Given the description of an element on the screen output the (x, y) to click on. 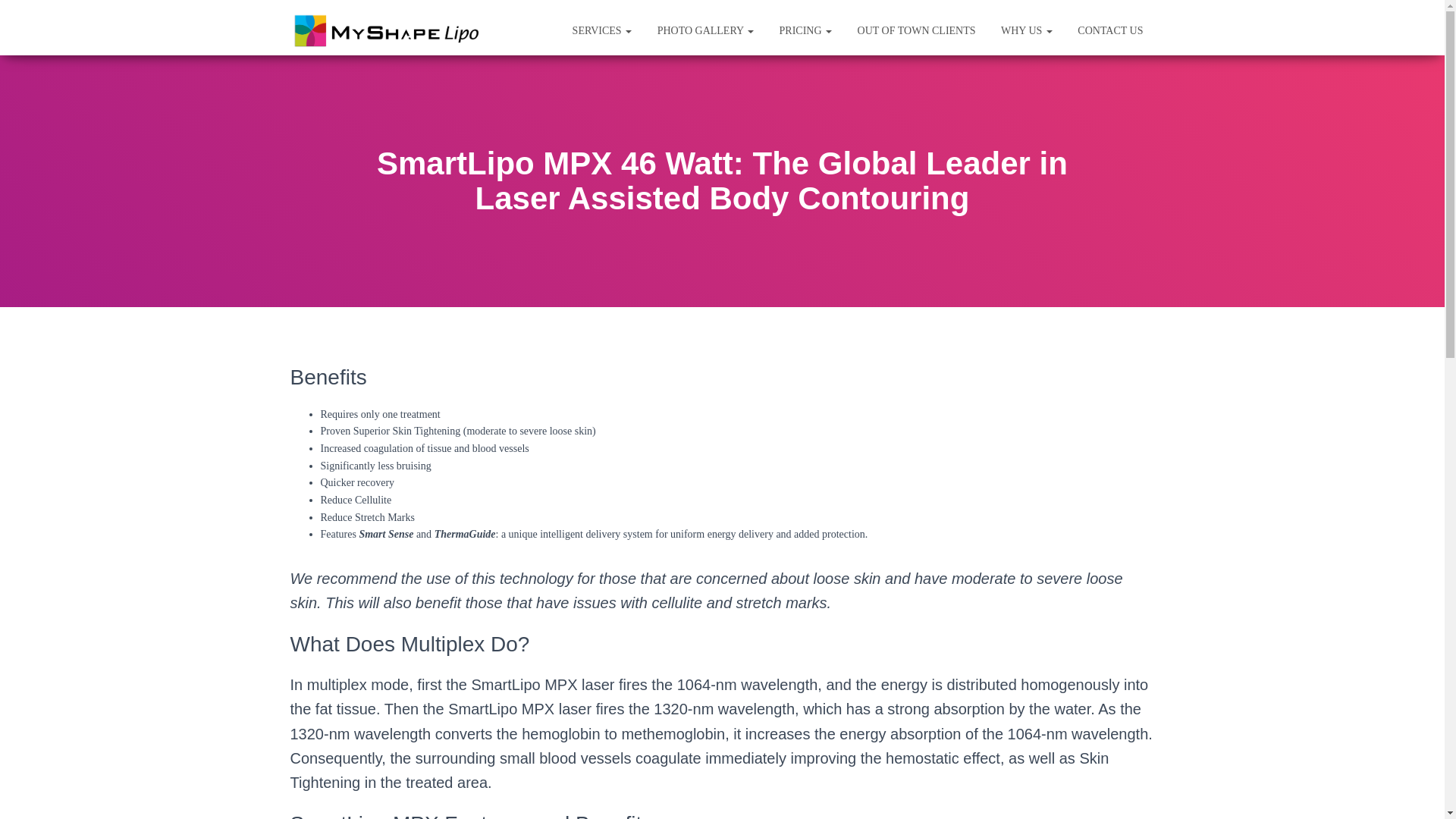
SERVICES (601, 30)
WHY US (1027, 30)
OUT OF TOWN CLIENTS (916, 30)
PHOTO GALLERY (705, 30)
Services (601, 30)
Photo Gallery (705, 30)
PRICING (806, 30)
My Shape Lipo (384, 30)
